Given the description of an element on the screen output the (x, y) to click on. 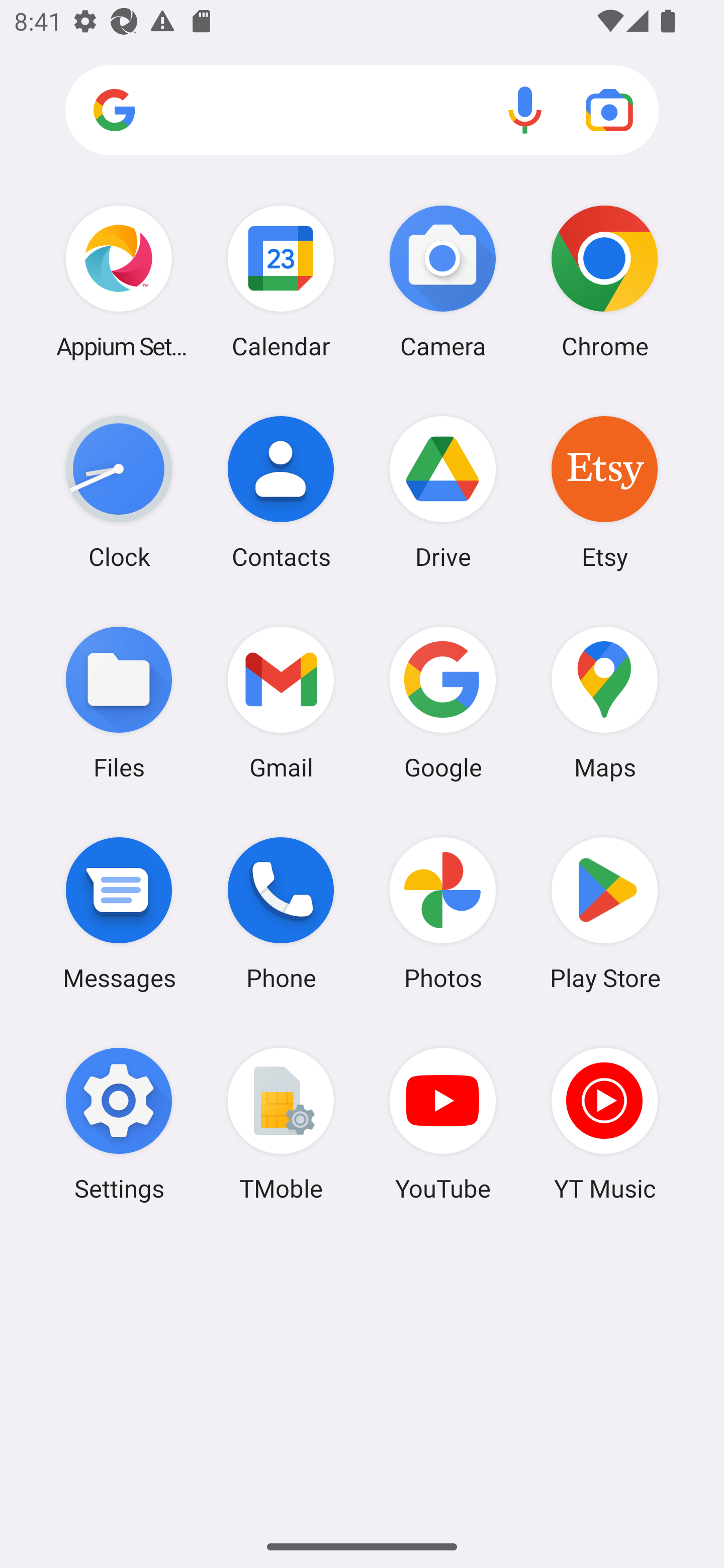
Search apps, web and more (361, 110)
Voice search (524, 109)
Google Lens (608, 109)
Appium Settings (118, 281)
Calendar (280, 281)
Camera (443, 281)
Chrome (604, 281)
Clock (118, 492)
Contacts (280, 492)
Drive (443, 492)
Etsy (604, 492)
Files (118, 702)
Gmail (280, 702)
Google (443, 702)
Maps (604, 702)
Messages (118, 913)
Phone (280, 913)
Photos (443, 913)
Play Store (604, 913)
Settings (118, 1124)
TMoble (280, 1124)
YouTube (443, 1124)
YT Music (604, 1124)
